Given the description of an element on the screen output the (x, y) to click on. 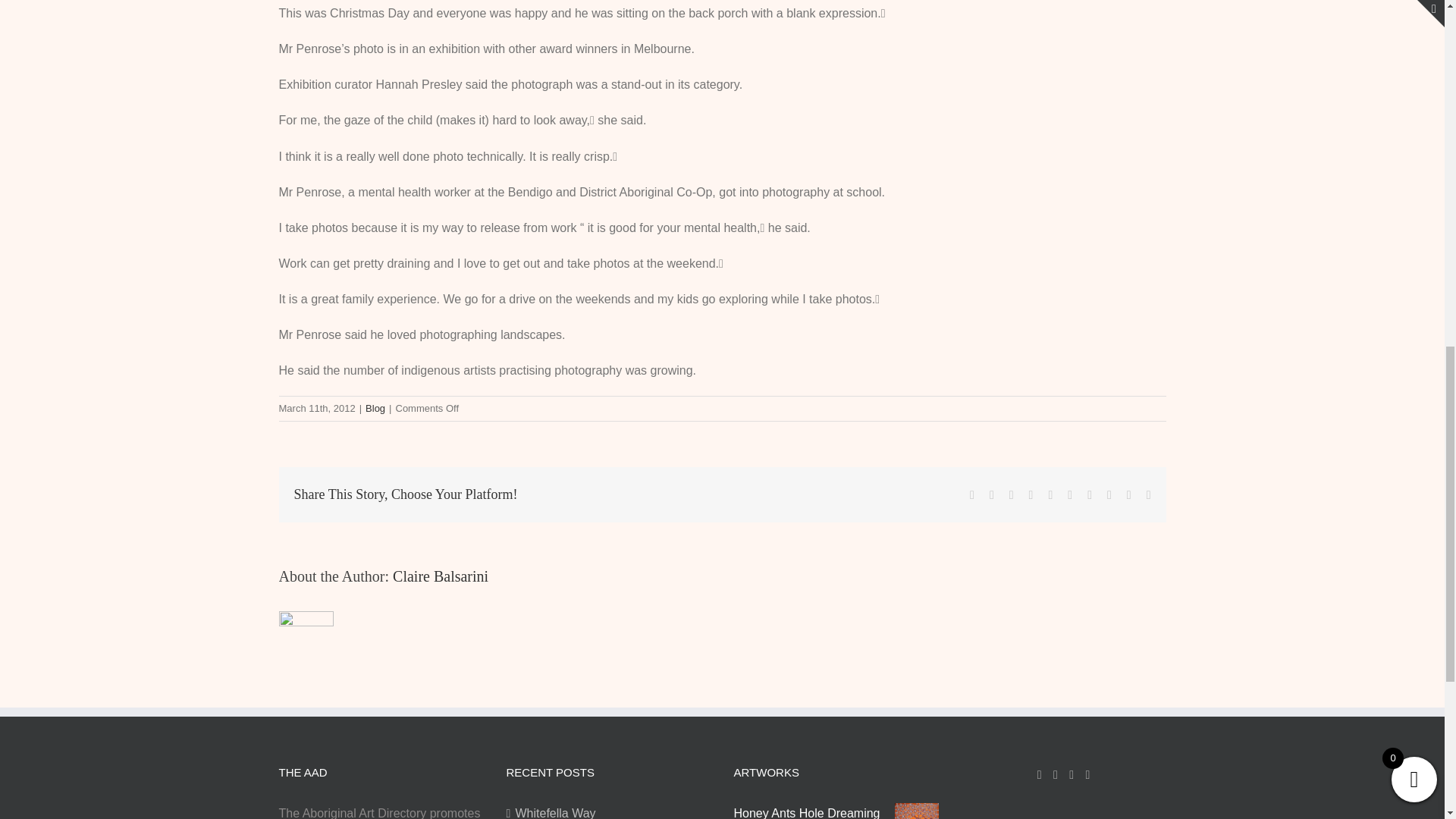
Posts by Claire Balsarini (440, 576)
